Given the description of an element on the screen output the (x, y) to click on. 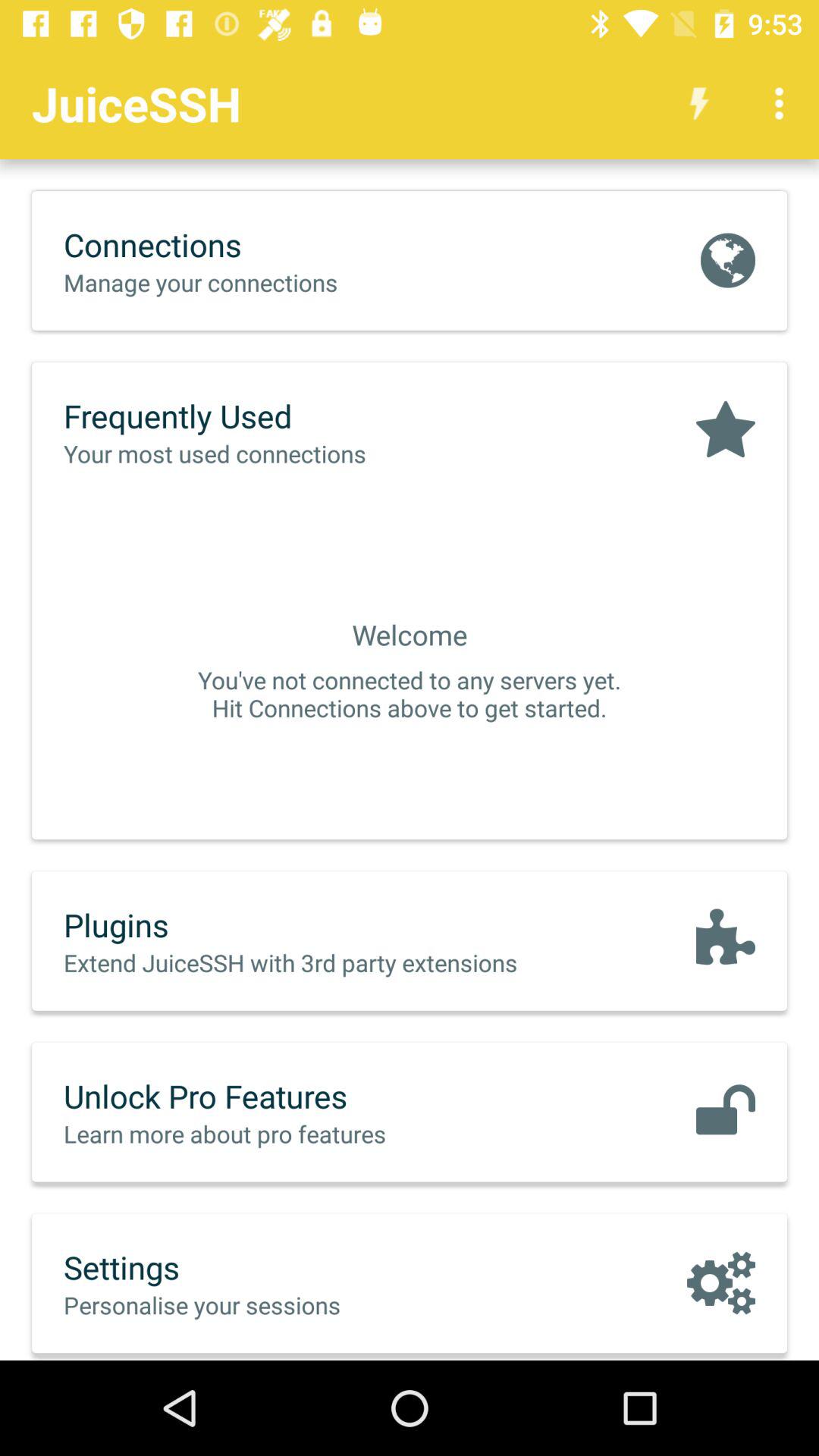
choose extend juicessh with item (322, 962)
